Given the description of an element on the screen output the (x, y) to click on. 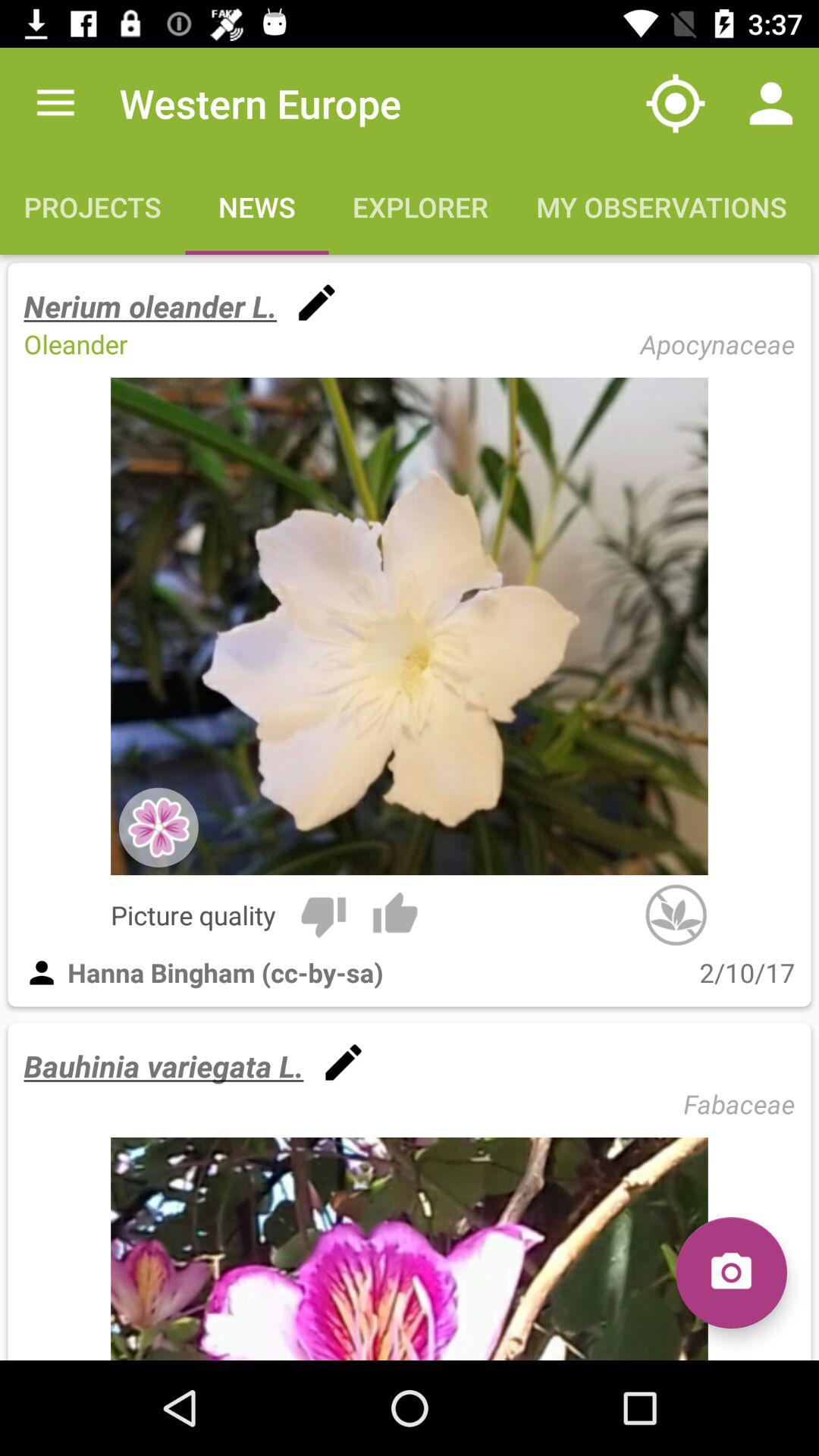
launch item to the left of western europe icon (55, 103)
